Given the description of an element on the screen output the (x, y) to click on. 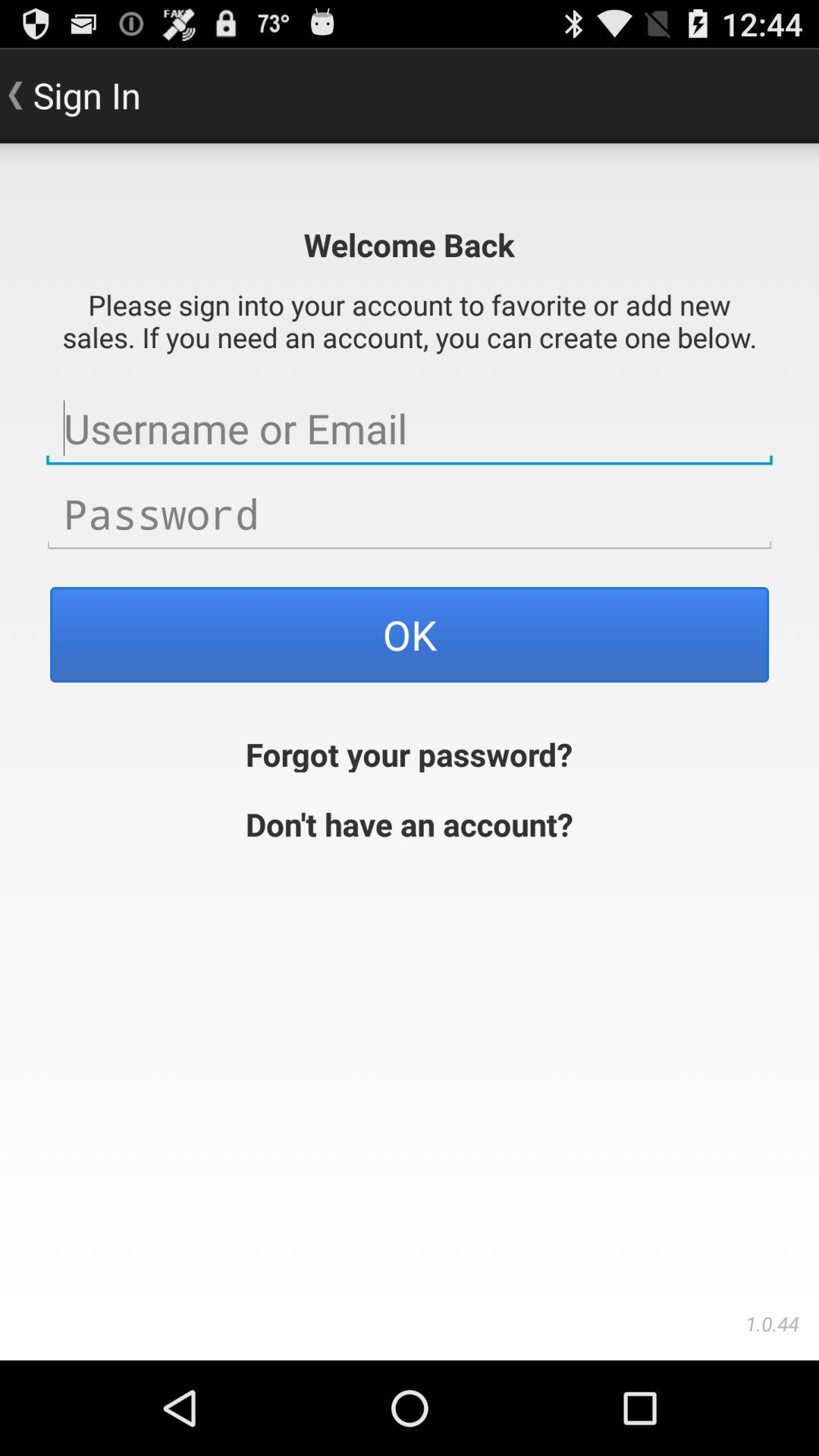
turn off app above forgot your password? icon (409, 634)
